Given the description of an element on the screen output the (x, y) to click on. 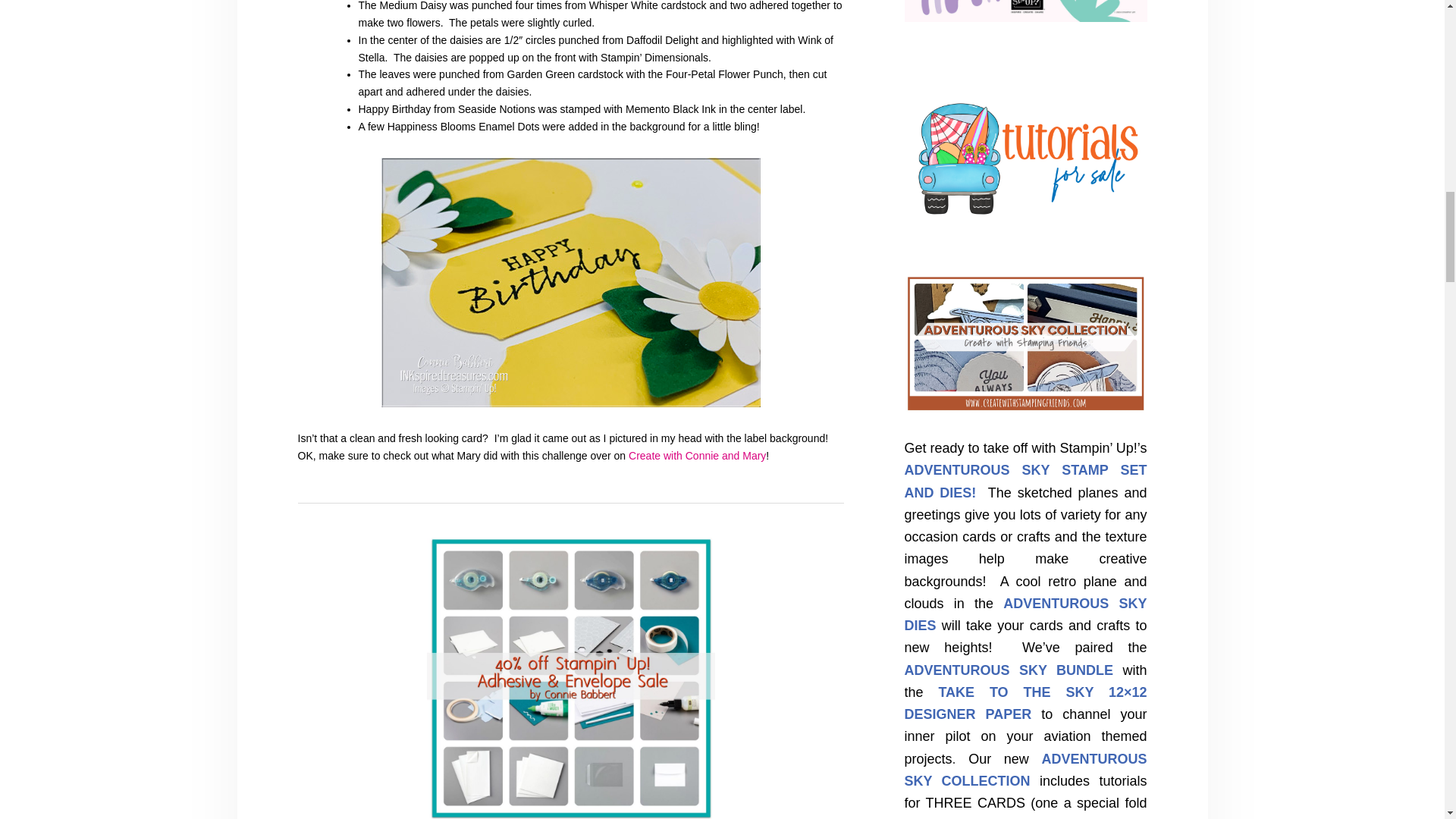
Create with Connie and Mary (696, 455)
